Given the description of an element on the screen output the (x, y) to click on. 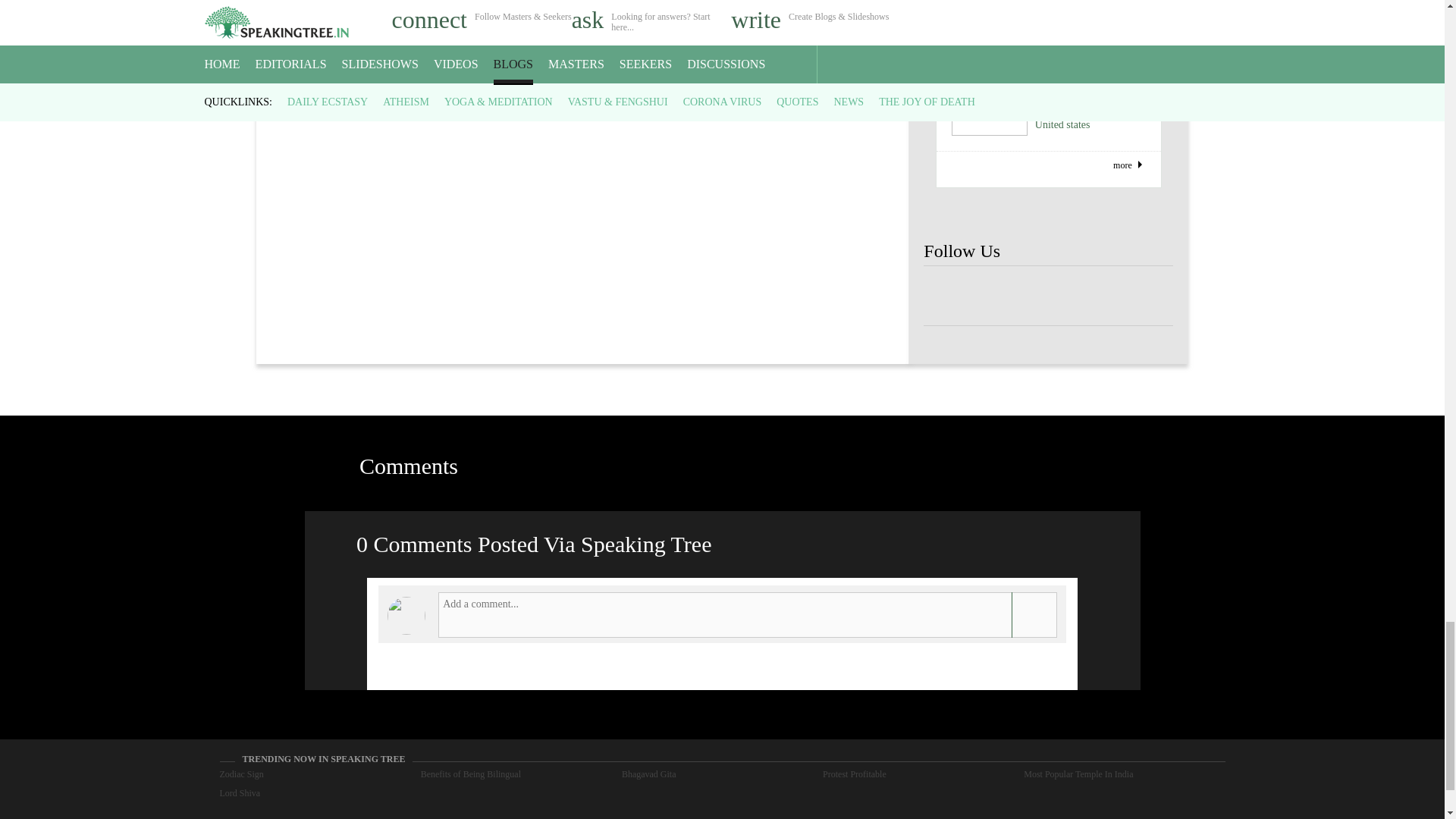
Speaking Tree FaceBook (1099, 296)
Speaking Tree FaceBook (998, 296)
Speaking Tree FaceBook (948, 296)
Speaking Tree FaceBook (1048, 296)
Speaking Tree FaceBook (1147, 296)
